Given the description of an element on the screen output the (x, y) to click on. 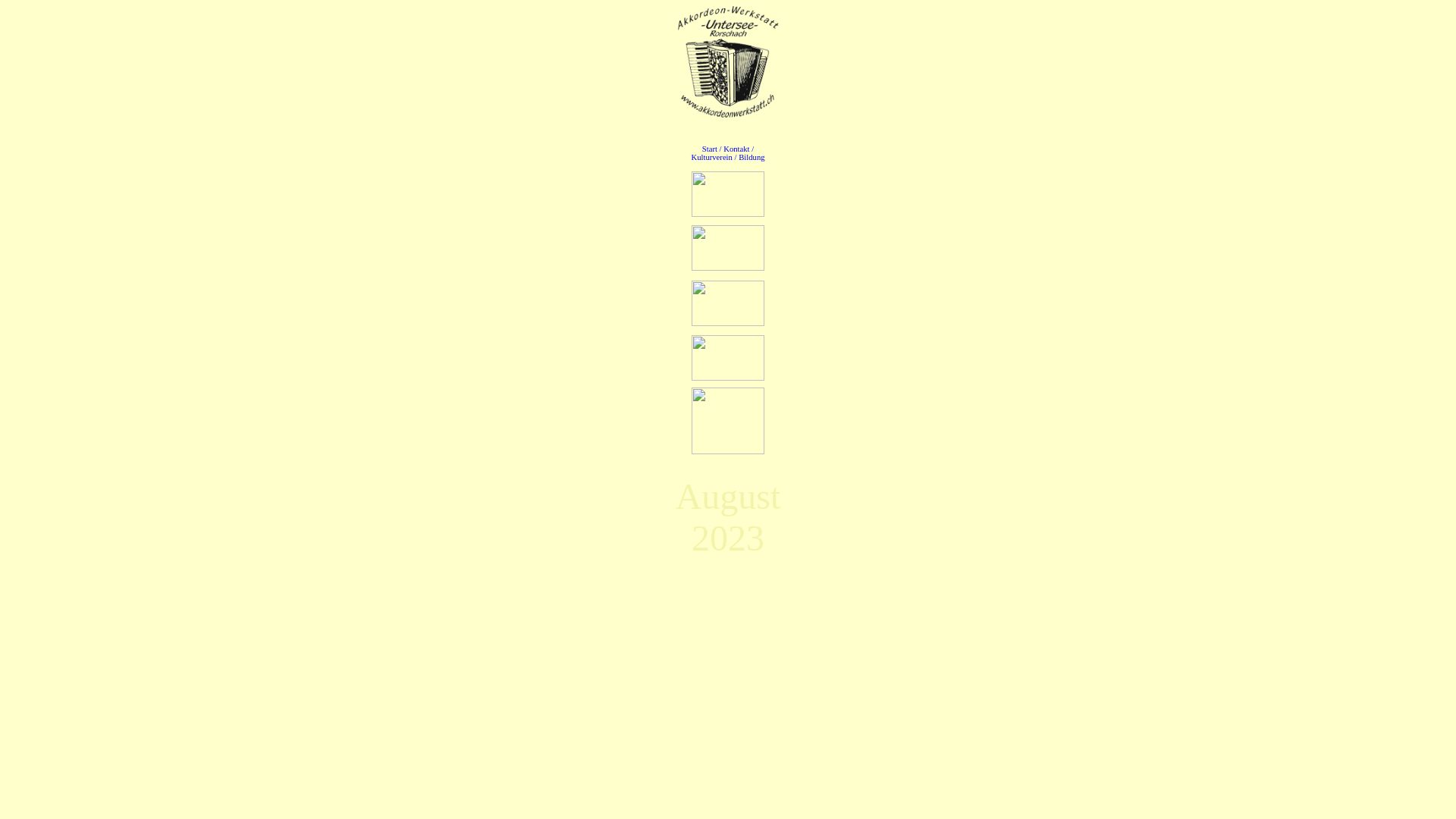
Start Element type: text (709, 148)
Kontakt Element type: text (736, 148)
Bildung Element type: text (751, 157)
Kulturverein Element type: text (710, 157)
